Given the description of an element on the screen output the (x, y) to click on. 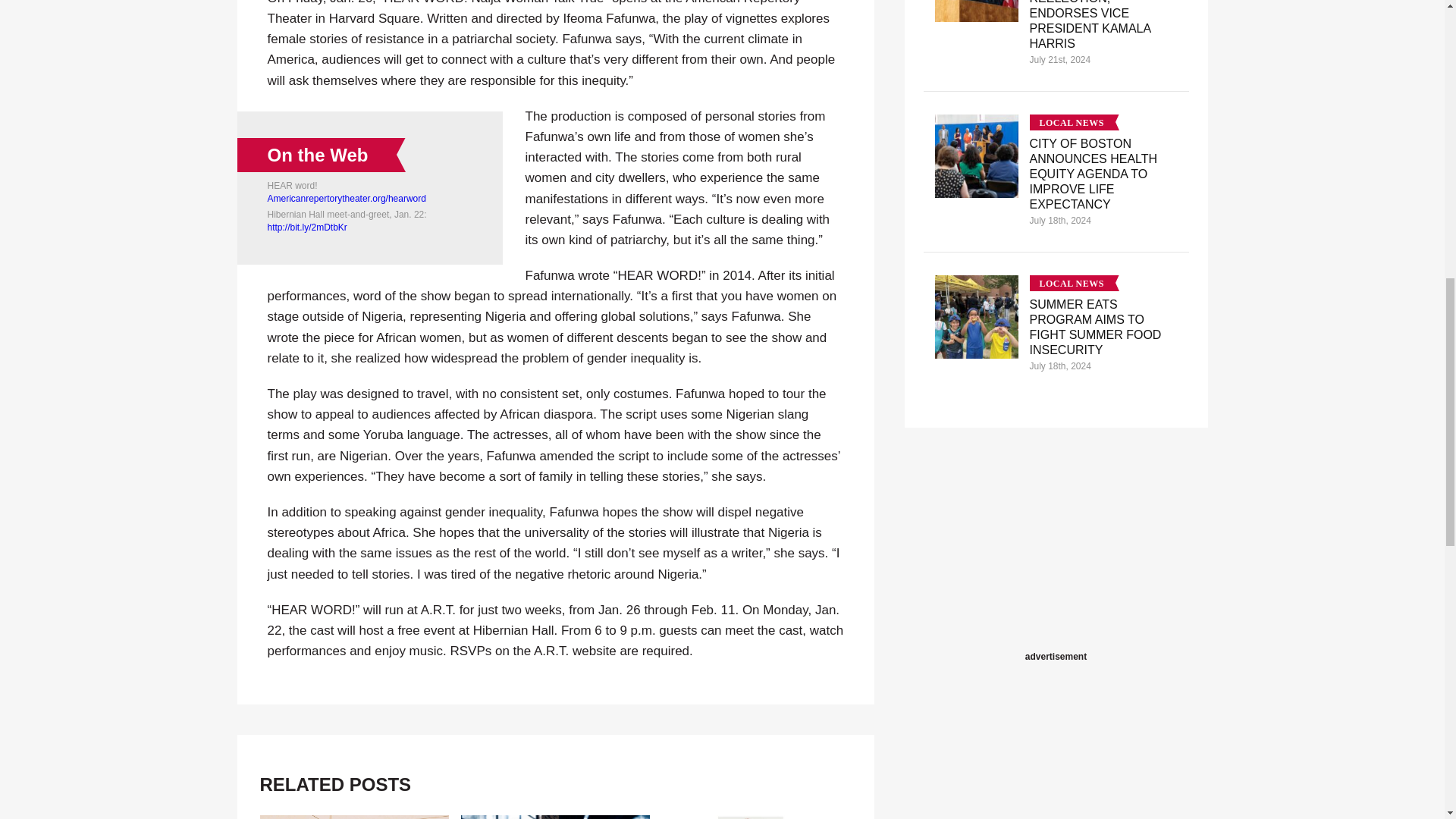
3rd party ad content (1055, 552)
